Given the description of an element on the screen output the (x, y) to click on. 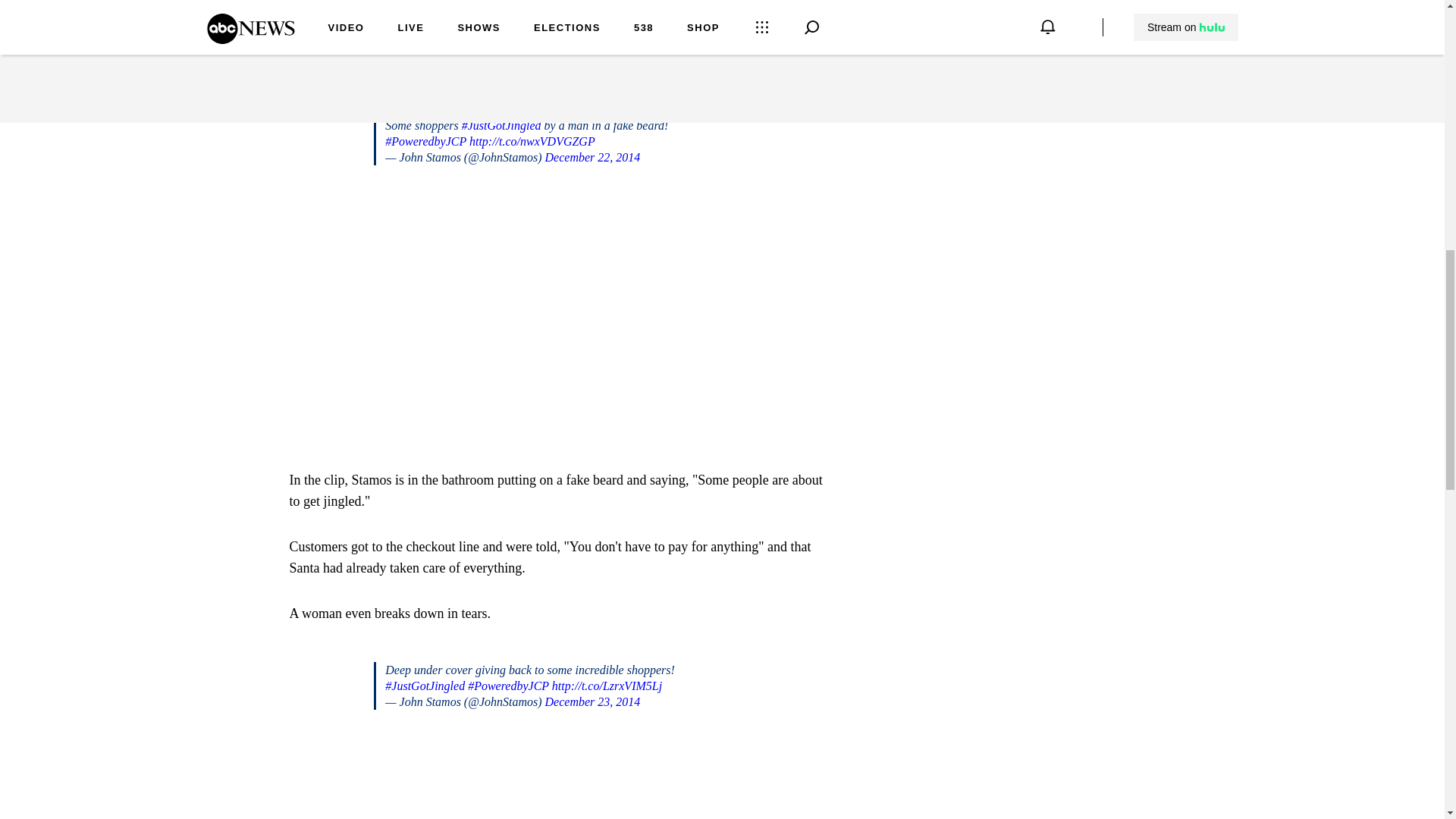
December 22, 2014 (592, 156)
December 23, 2014 (592, 701)
Read: John Stamos Opens Up About His 'Date' with Amy Poehler (560, 48)
